Given the description of an element on the screen output the (x, y) to click on. 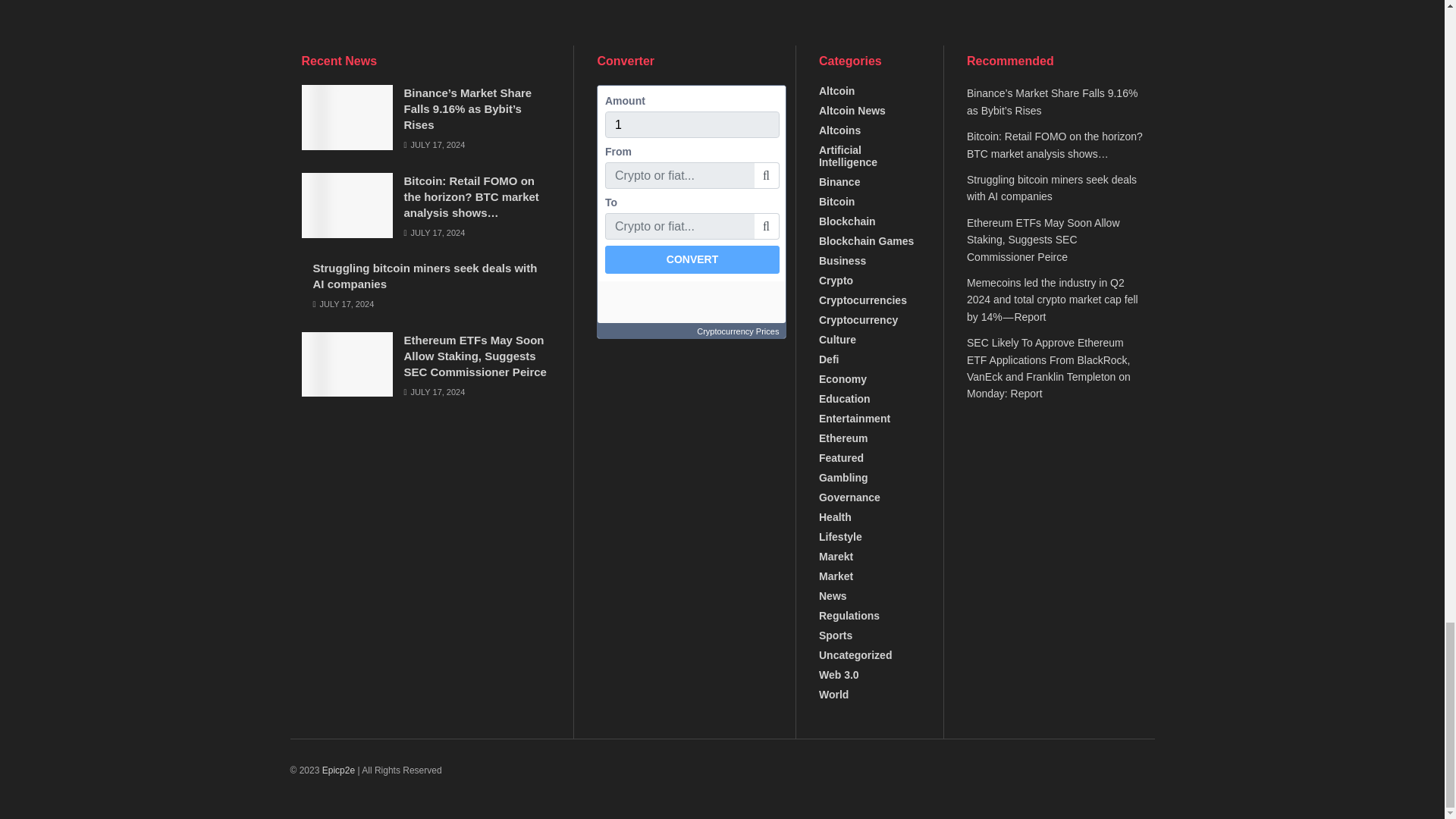
Premium news  (338, 769)
